Given the description of an element on the screen output the (x, y) to click on. 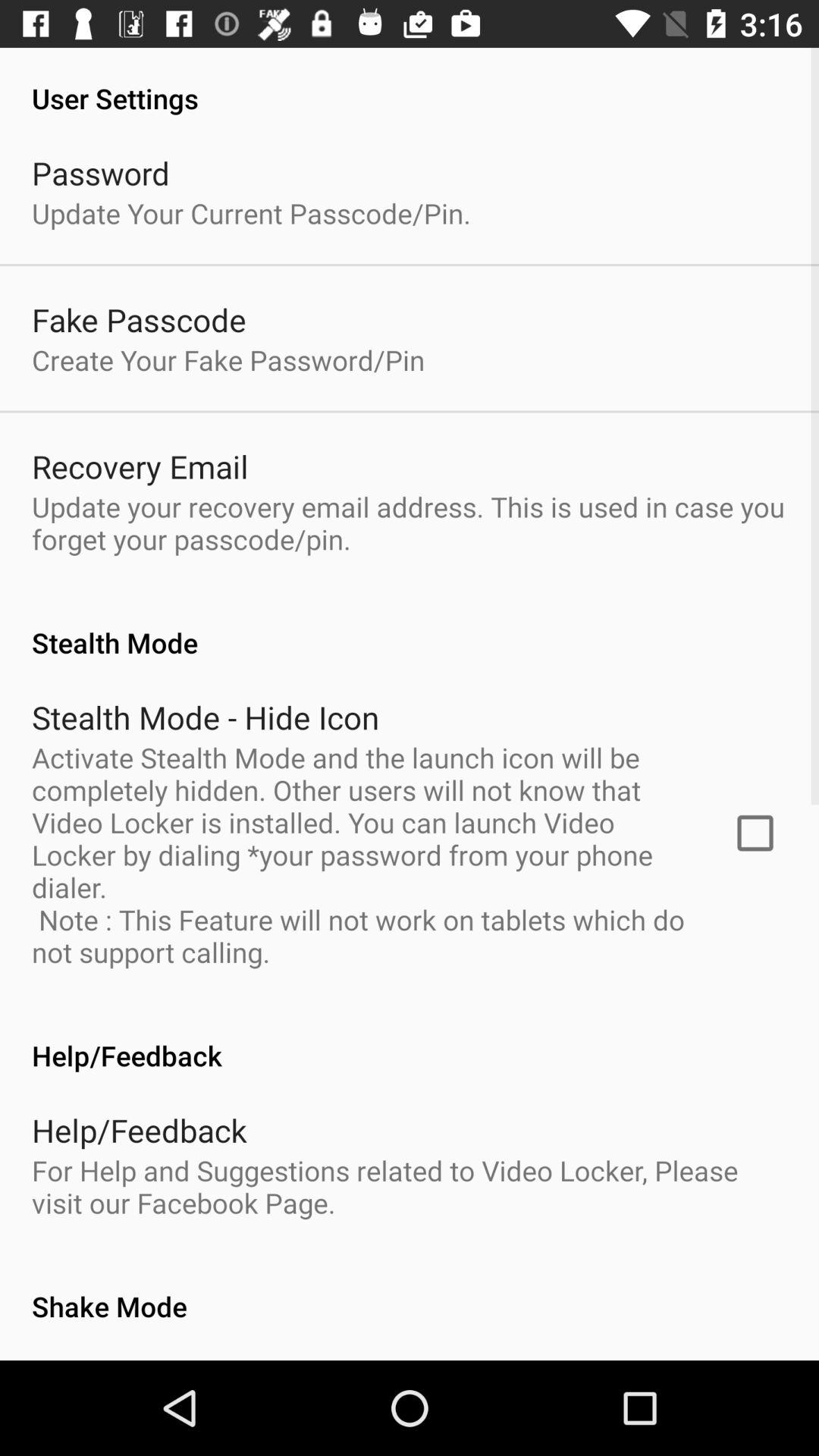
launch shake mode item (409, 1290)
